Given the description of an element on the screen output the (x, y) to click on. 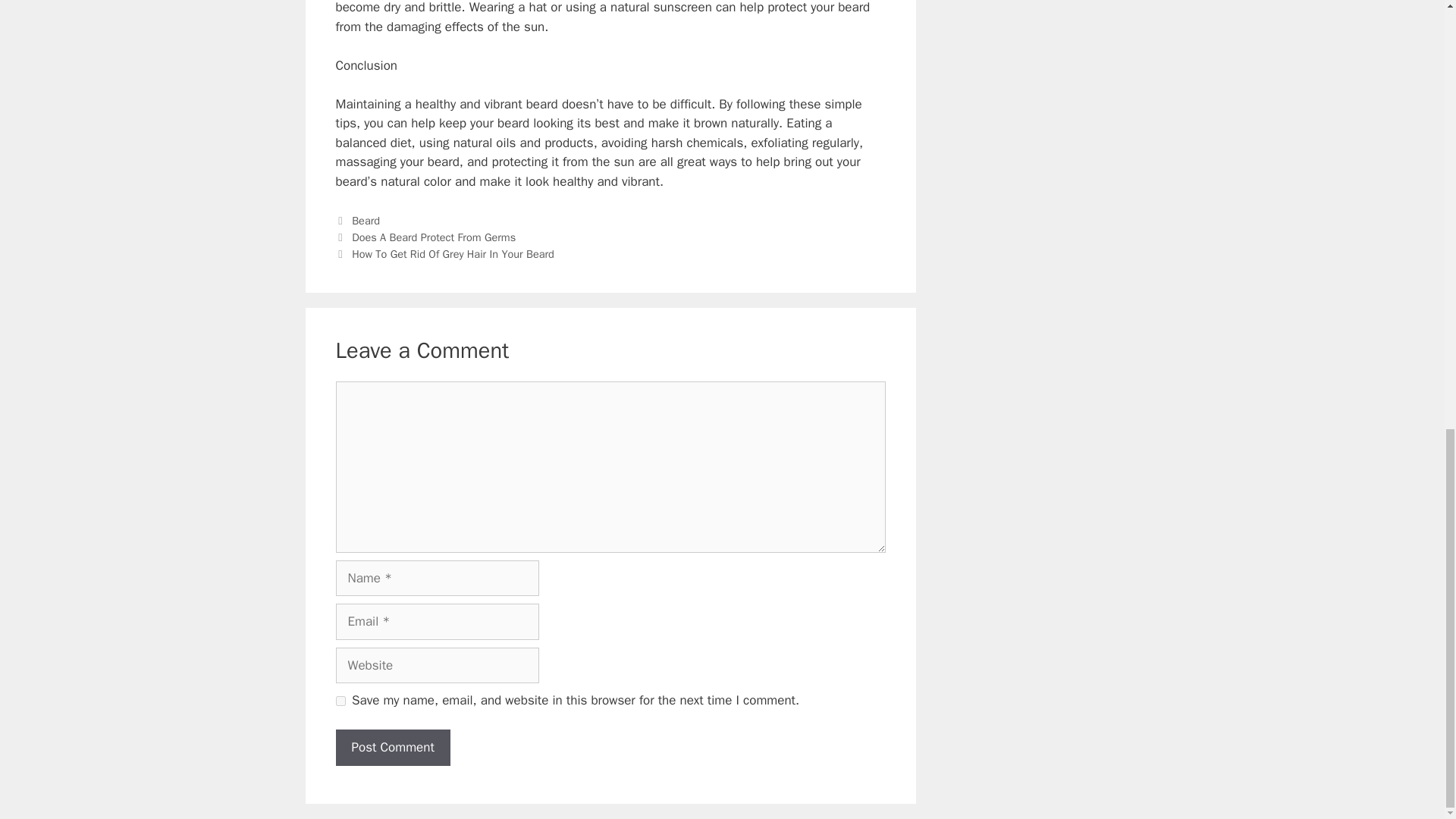
How To Get Rid Of Grey Hair In Your Beard (453, 254)
Post Comment (391, 747)
Post Comment (391, 747)
Does A Beard Protect From Germs (433, 237)
Beard (366, 220)
yes (339, 700)
